Given the description of an element on the screen output the (x, y) to click on. 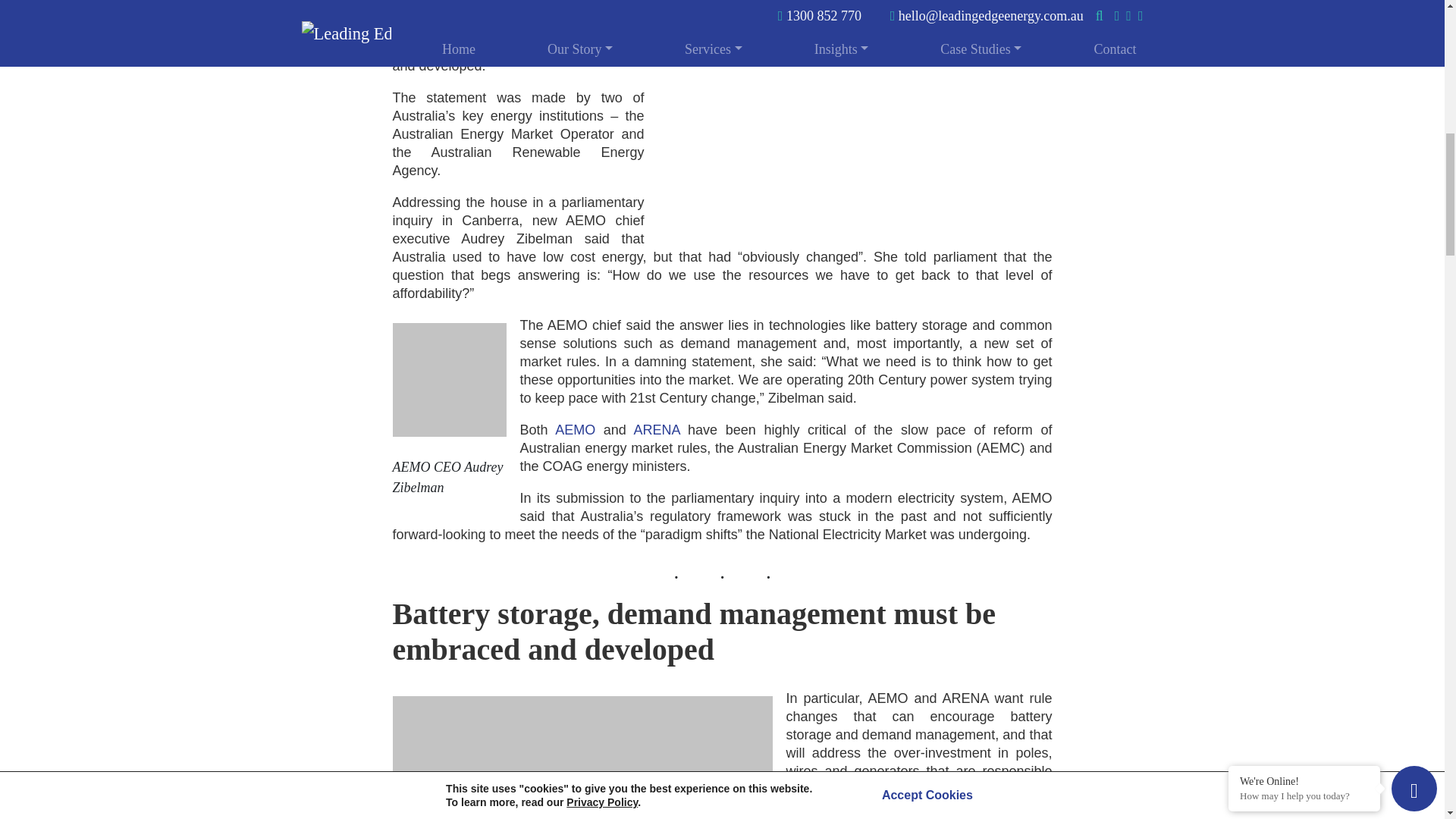
ARENA (656, 429)
AEMO (574, 429)
